Given the description of an element on the screen output the (x, y) to click on. 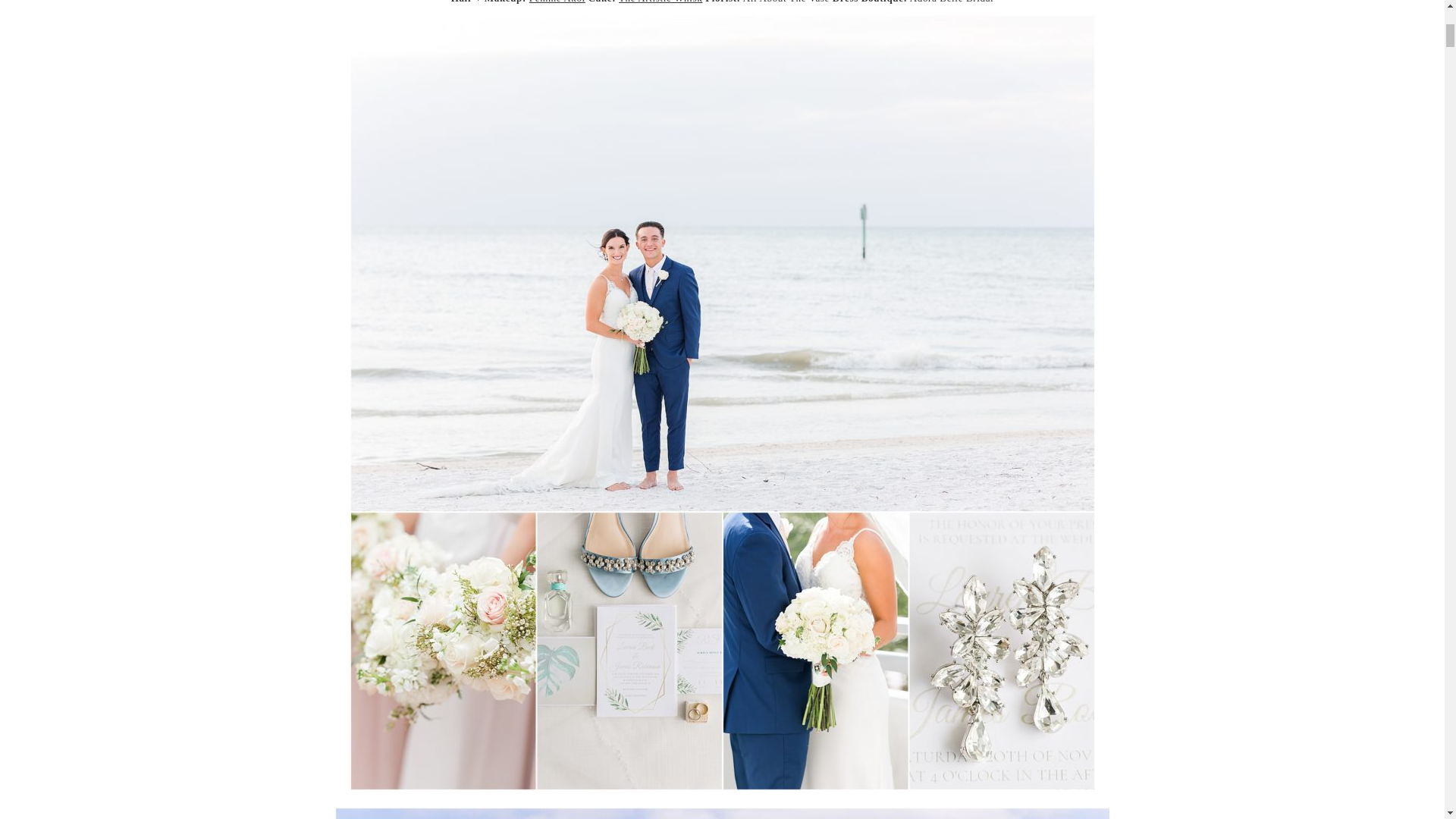
Femme Akoi (557, 2)
The Artistic Whisk (659, 2)
